Given the description of an element on the screen output the (x, y) to click on. 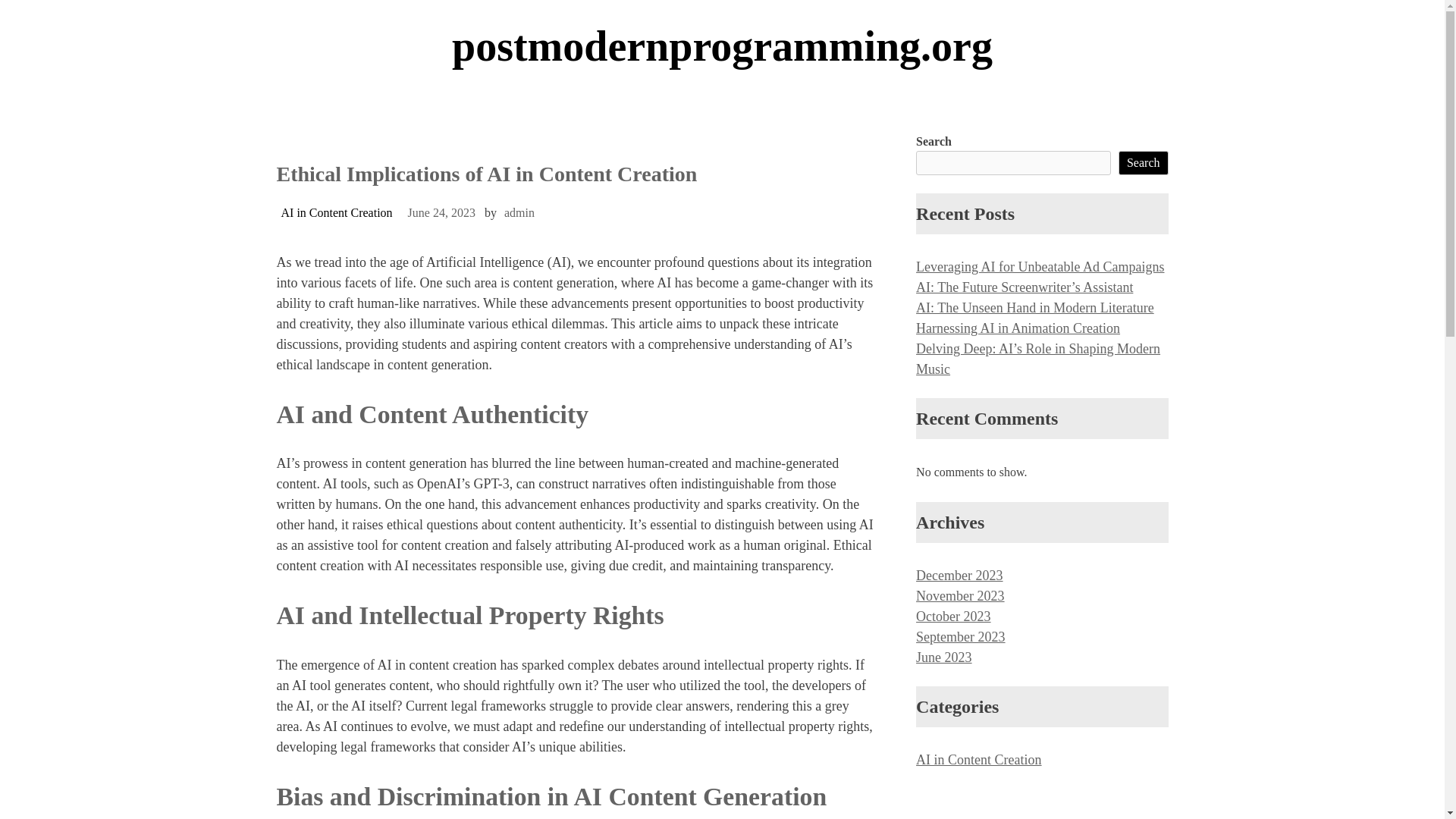
AI in Content Creation (978, 759)
Leveraging AI for Unbeatable Ad Campaigns (1039, 266)
AI: The Unseen Hand in Modern Literature (1034, 307)
Harnessing AI in Animation Creation (1017, 328)
September 2023 (959, 636)
admin (518, 212)
November 2023 (959, 595)
December 2023 (959, 575)
October 2023 (952, 616)
postmodernprogramming.org (721, 46)
AI in Content Creation (336, 212)
Search (1143, 162)
June 2023 (943, 657)
June 24, 2023 (441, 212)
